Given the description of an element on the screen output the (x, y) to click on. 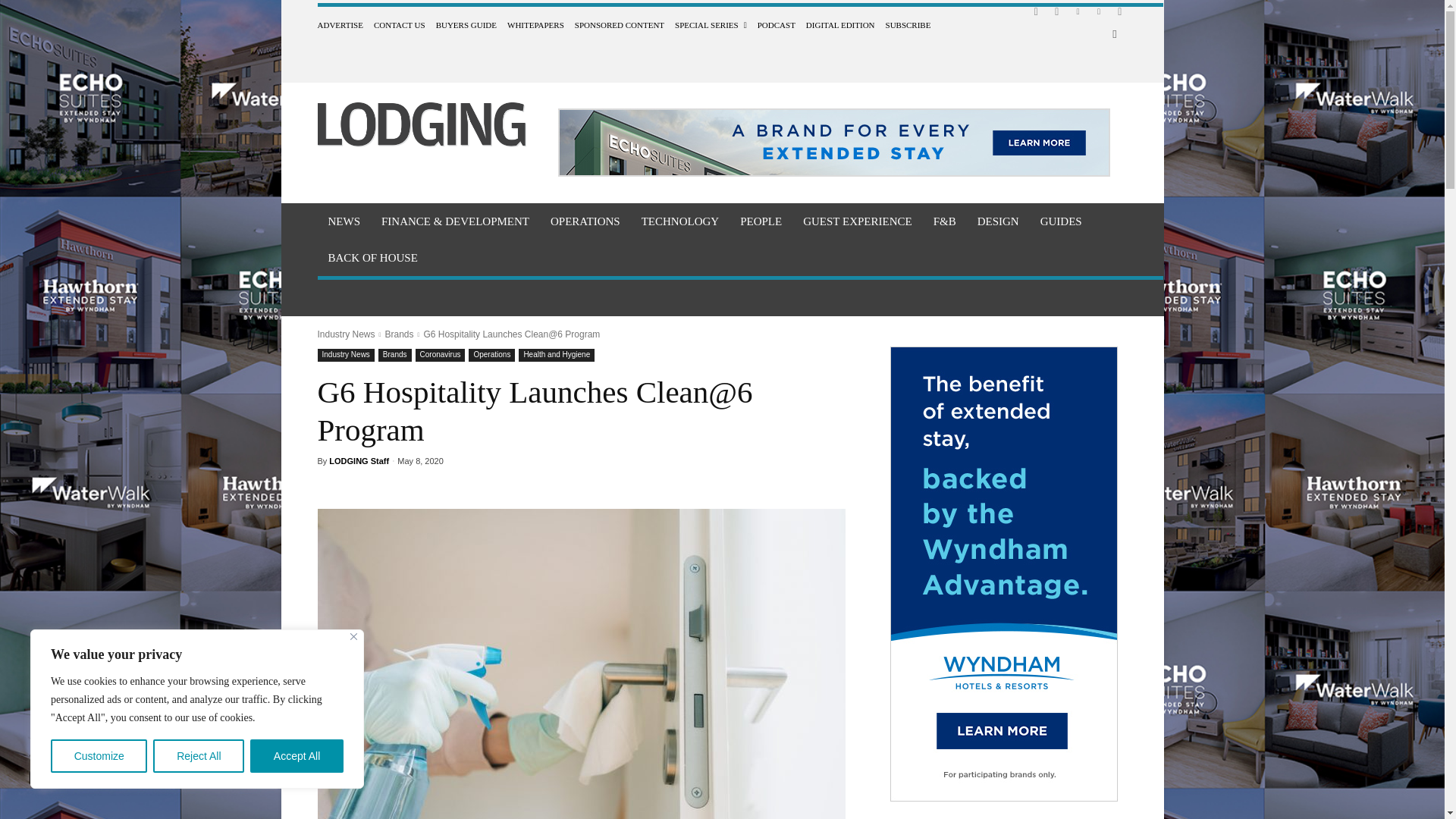
Customize (98, 756)
Reject All (198, 756)
View all posts in Industry News (345, 334)
Linkedin (1078, 10)
Instagram (1056, 10)
Youtube (1119, 10)
SPECIAL SERIES (710, 24)
WHITEPAPERS (535, 24)
SPONSORED CONTENT (619, 24)
Twitter (1098, 10)
View all posts in Brands (398, 334)
Accept All (296, 756)
BUYERS GUIDE (465, 24)
ADVERTISE (339, 24)
